Given the description of an element on the screen output the (x, y) to click on. 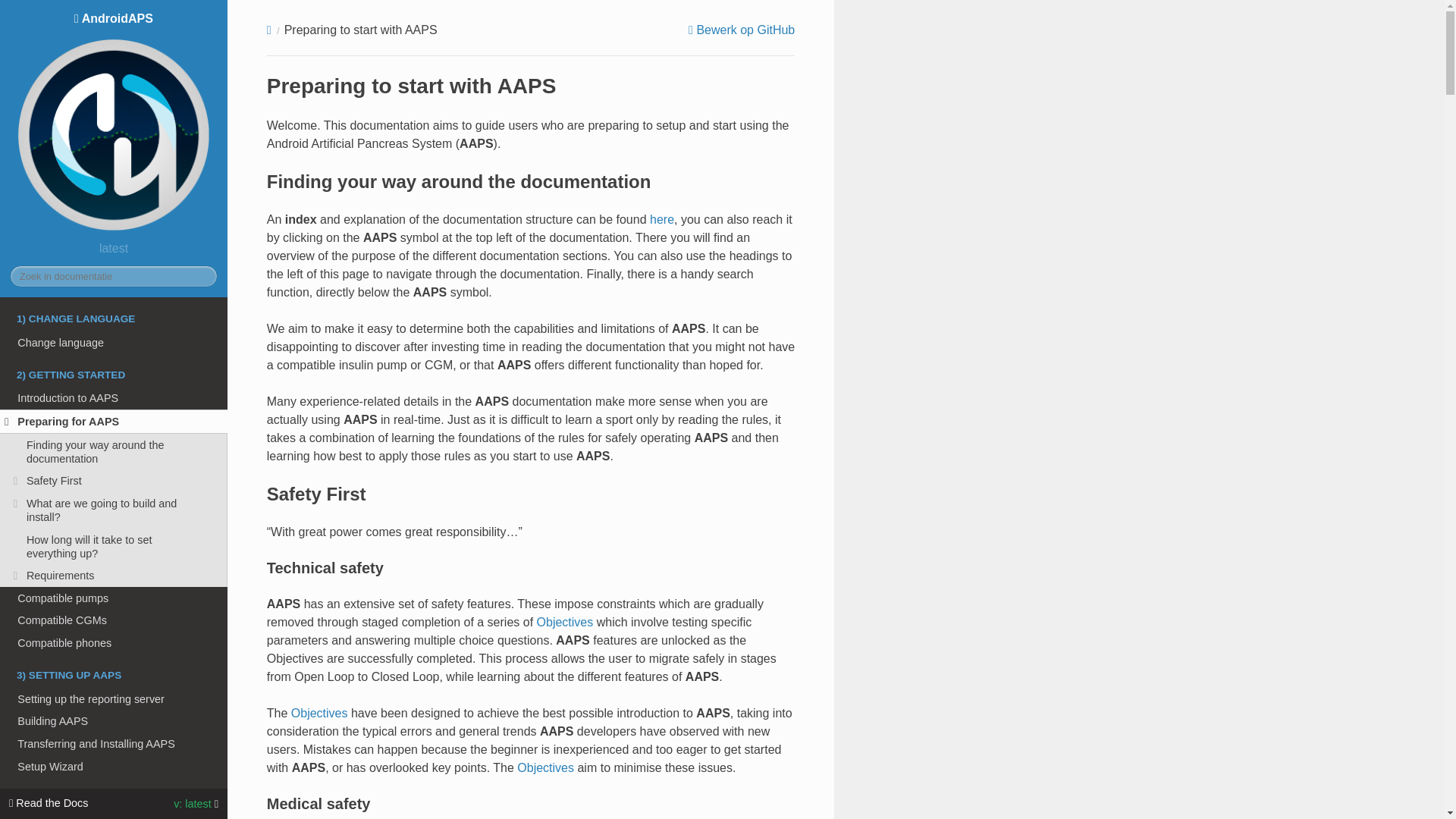
AndroidAPS (113, 123)
Preparing for AAPS (113, 421)
Compatible pumps (113, 598)
What are we going to build and install? (113, 510)
Introduction to AAPS (113, 398)
Safety First (113, 480)
Requirements (113, 575)
Finding your way around the documentation (113, 452)
How long will it take to set everything up? (113, 546)
Change language (113, 342)
